Given the description of an element on the screen output the (x, y) to click on. 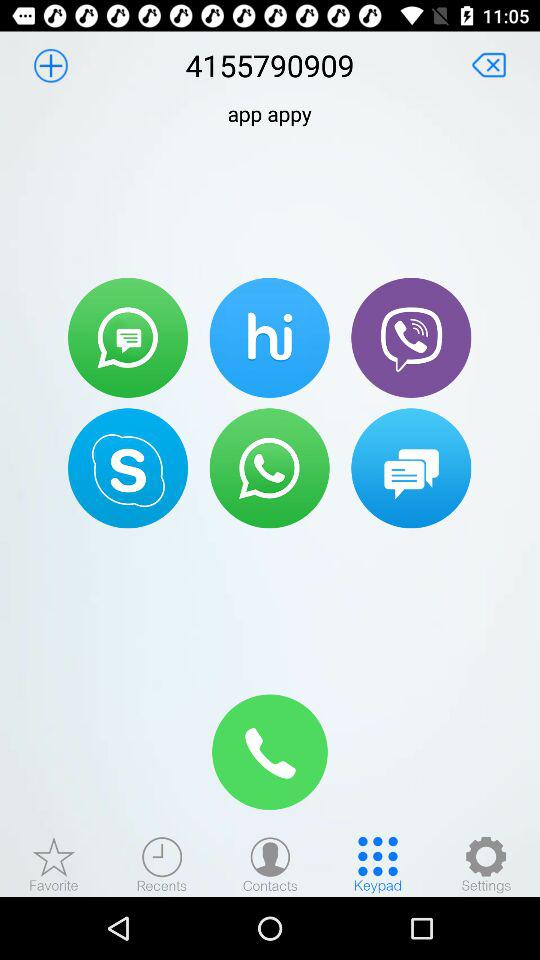
open recent (161, 864)
